Given the description of an element on the screen output the (x, y) to click on. 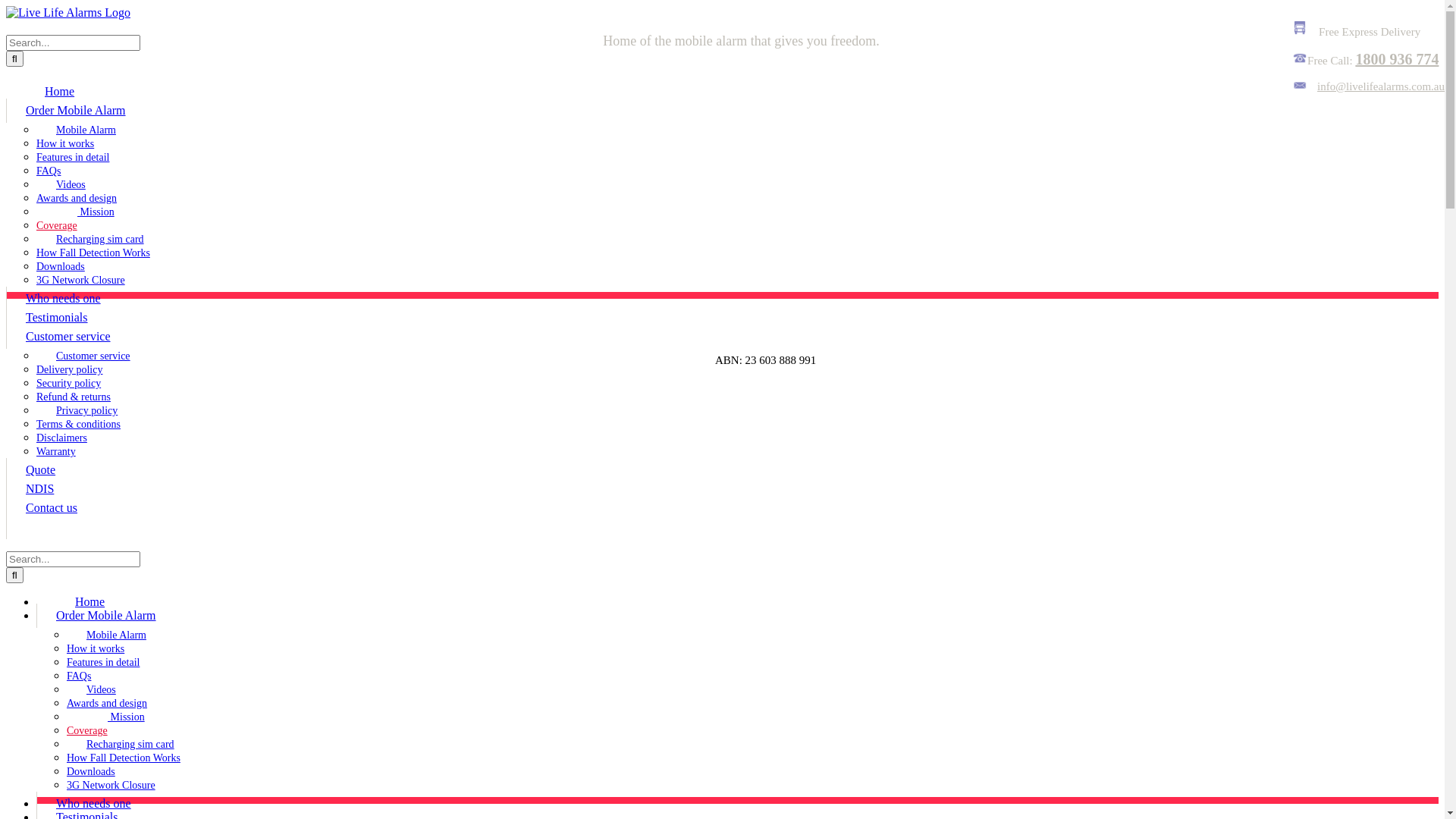
Videos Element type: text (91, 689)
Home Element type: text (49, 90)
Security policy Element type: text (68, 382)
Order Mobile Alarm Element type: text (105, 615)
3G Network Closure Element type: text (80, 279)
Awards and design Element type: text (76, 197)
Videos Element type: text (60, 184)
Disclaimers Element type: text (61, 437)
Recharging sim card Element type: text (90, 238)
3G Network Closure Element type: text (110, 784)
How it works Element type: text (95, 648)
Downloads Element type: text (90, 771)
Recharging sim card Element type: text (120, 743)
FAQs Element type: text (48, 170)
Warranty Element type: text (55, 451)
How Fall Detection Works Element type: text (123, 757)
Terms & conditions Element type: text (78, 423)
Who needs one Element type: text (62, 298)
Quote Element type: text (40, 470)
Refund & returns Element type: text (73, 396)
Coverage Element type: text (56, 225)
How it works Element type: text (65, 143)
Features in detail Element type: text (102, 661)
1800 936 774 Element type: text (1396, 58)
Beliefs & Mission Element type: text (75, 211)
Coverage Element type: text (86, 730)
How Fall Detection Works Element type: text (93, 252)
Awards and design Element type: text (106, 702)
Contact us Element type: text (51, 507)
We'd Like to Hear From You Element type: hover (1299, 60)
Order Mobile Alarm Element type: text (75, 110)
Mobile Alarm Element type: text (106, 634)
Delivery policy Element type: text (69, 369)
Features in detail Element type: text (72, 156)
FAQs Element type: text (78, 675)
Testimonials Element type: text (56, 317)
Customer service Element type: text (83, 355)
Home Element type: text (79, 601)
NDIS Element type: text (39, 488)
Customer service Element type: text (67, 336)
Mobile Alarm Element type: text (76, 129)
info@livelifealarms.com.au Element type: text (1368, 86)
Privacy policy Element type: text (76, 410)
Downloads Element type: text (60, 266)
Beliefs & Mission Element type: text (105, 716)
Who needs one Element type: text (93, 803)
